Given the description of an element on the screen output the (x, y) to click on. 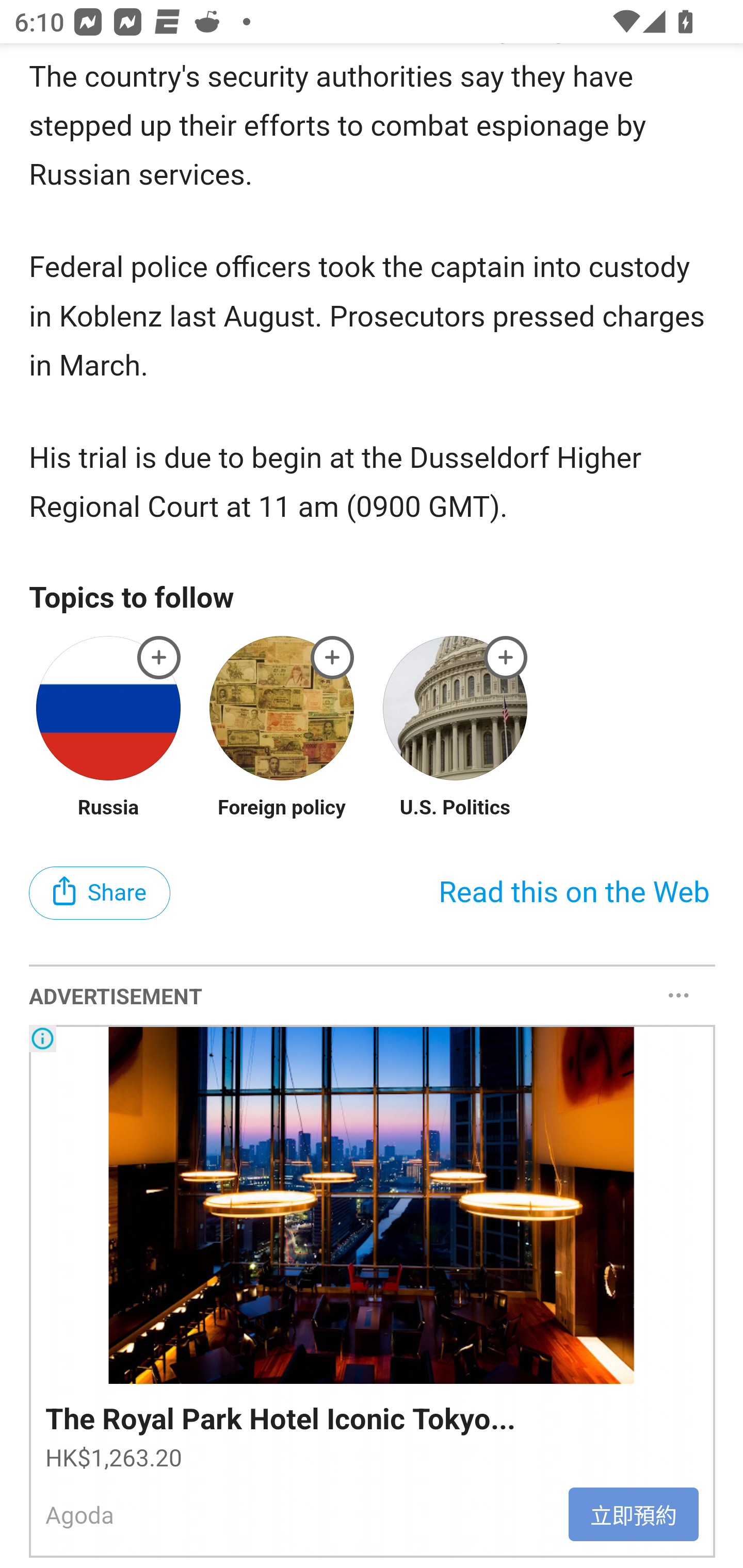
1157554238147019359 (159, 658)
1157554238147019359 (332, 658)
1157554238147019359 (505, 658)
Russia (108, 808)
Foreign policy (281, 808)
U.S. Politics (454, 808)
Read this on the Web (573, 893)
Share (99, 894)
